Given the description of an element on the screen output the (x, y) to click on. 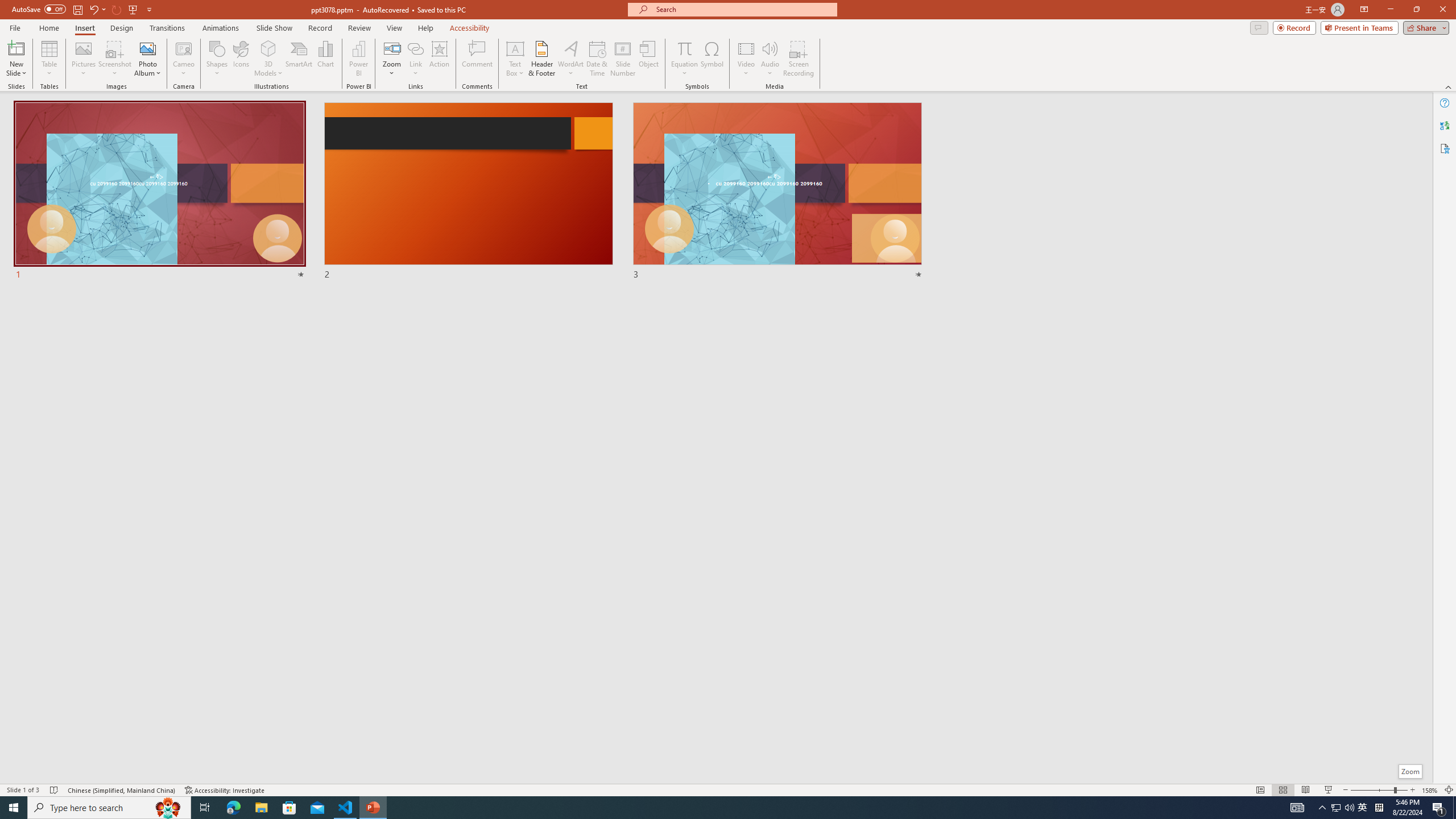
Equation (683, 58)
Action (439, 58)
3D Models (268, 48)
